Given the description of an element on the screen output the (x, y) to click on. 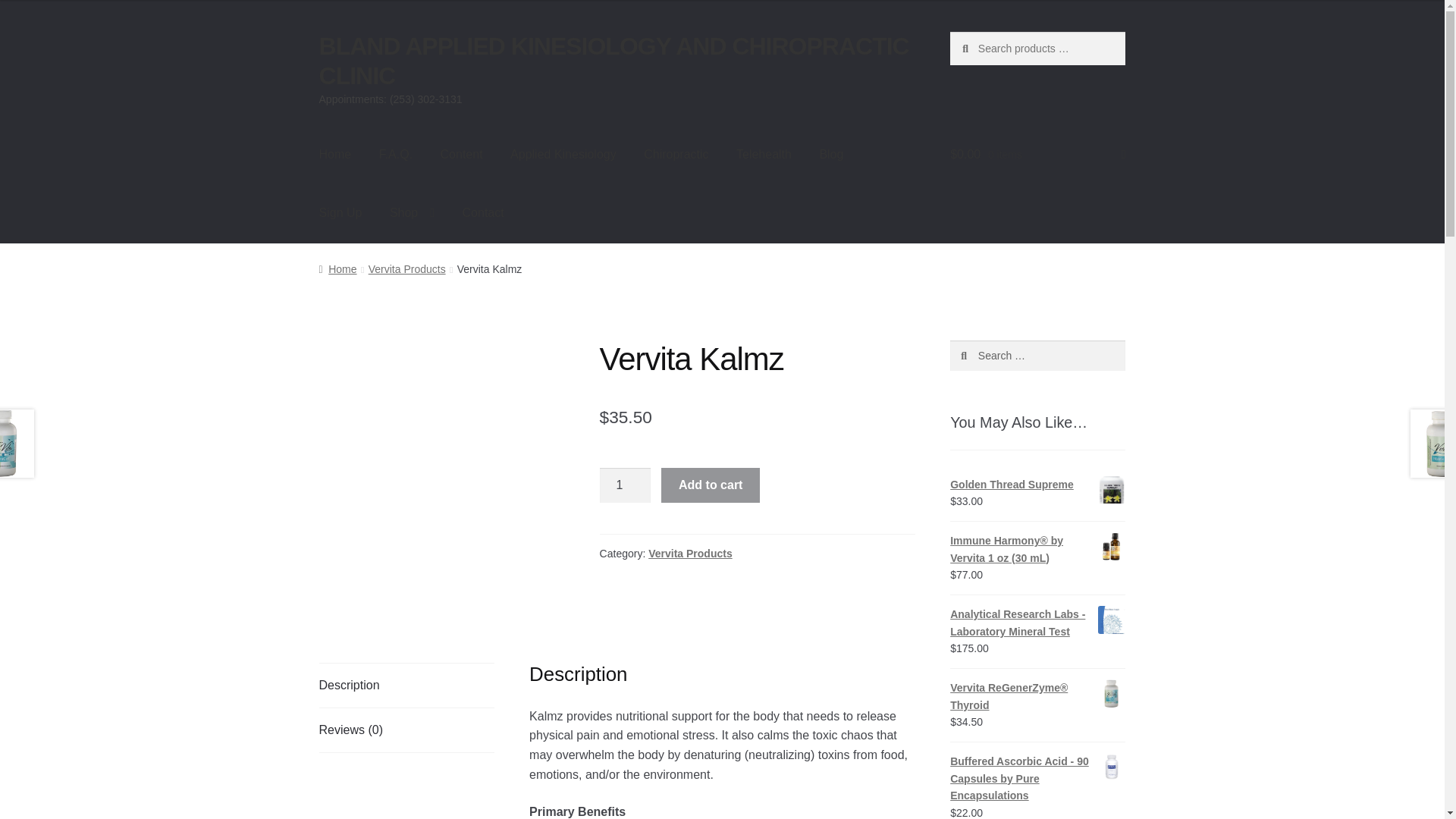
View your shopping cart (1037, 154)
Sign Up (340, 212)
Home (335, 154)
Home (337, 268)
Contact (482, 212)
Applied Kinesiology (562, 154)
BLAND APPLIED KINESIOLOGY AND CHIROPRACTIC CLINIC (613, 60)
Vervita Products (406, 268)
